Given the description of an element on the screen output the (x, y) to click on. 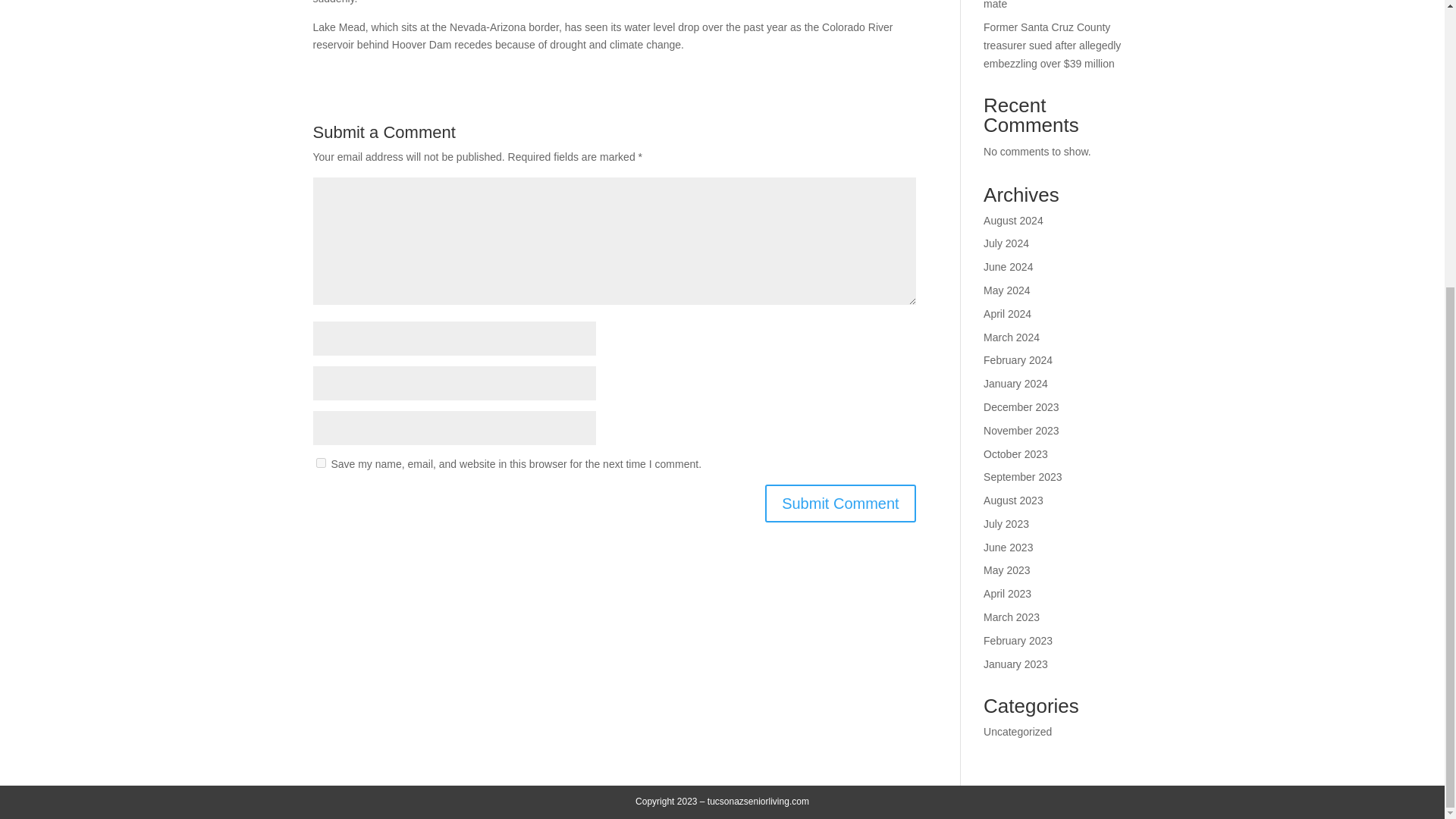
September 2023 (1023, 476)
June 2024 (1008, 266)
January 2024 (1016, 383)
Uncategorized (1017, 731)
January 2023 (1016, 664)
yes (319, 462)
December 2023 (1021, 407)
April 2023 (1007, 593)
February 2023 (1018, 640)
July 2024 (1006, 243)
Submit Comment (840, 503)
Submit Comment (840, 503)
April 2024 (1007, 313)
March 2023 (1011, 616)
November 2023 (1021, 430)
